Given the description of an element on the screen output the (x, y) to click on. 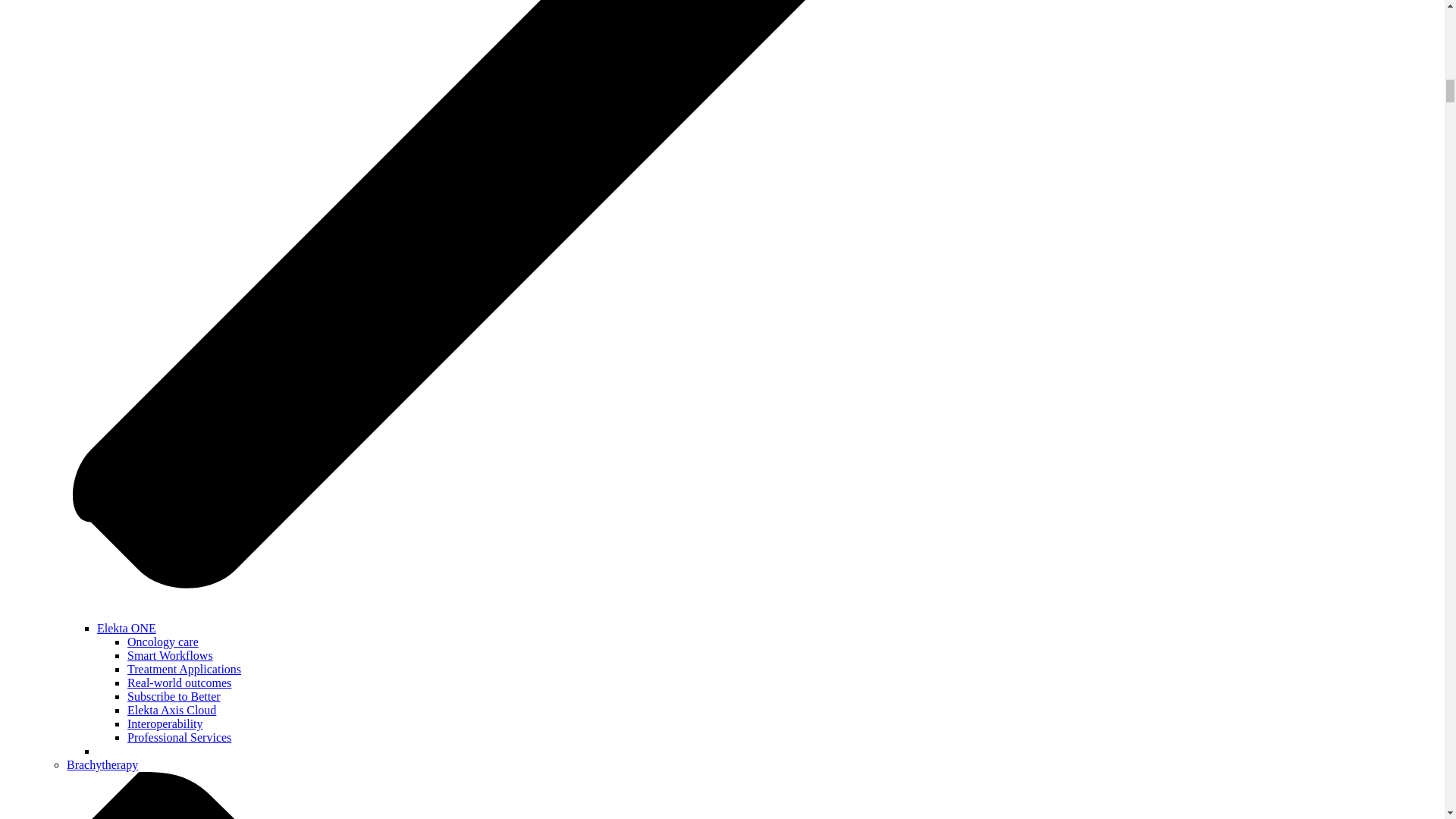
Interoperability (165, 723)
Oncology care (163, 641)
Professional Services (179, 737)
Real-world outcomes (179, 682)
Elekta ONE (126, 627)
Elekta Axis Cloud (171, 709)
Smart Workflows (170, 655)
Subscribe to Better (174, 696)
Treatment Applications (184, 668)
